Given the description of an element on the screen output the (x, y) to click on. 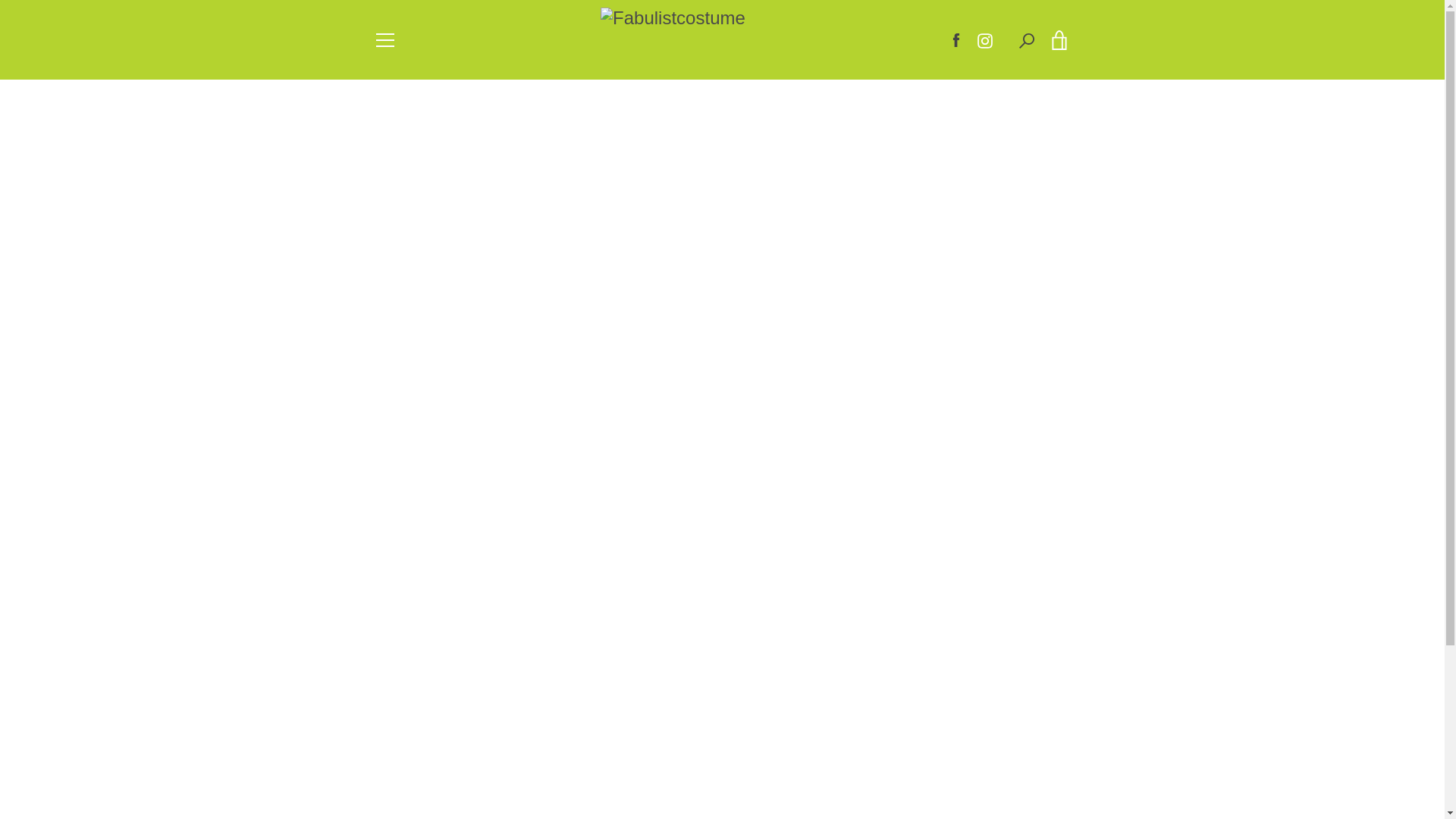
VIEW CART (1059, 39)
MENU (384, 39)
